Given the description of an element on the screen output the (x, y) to click on. 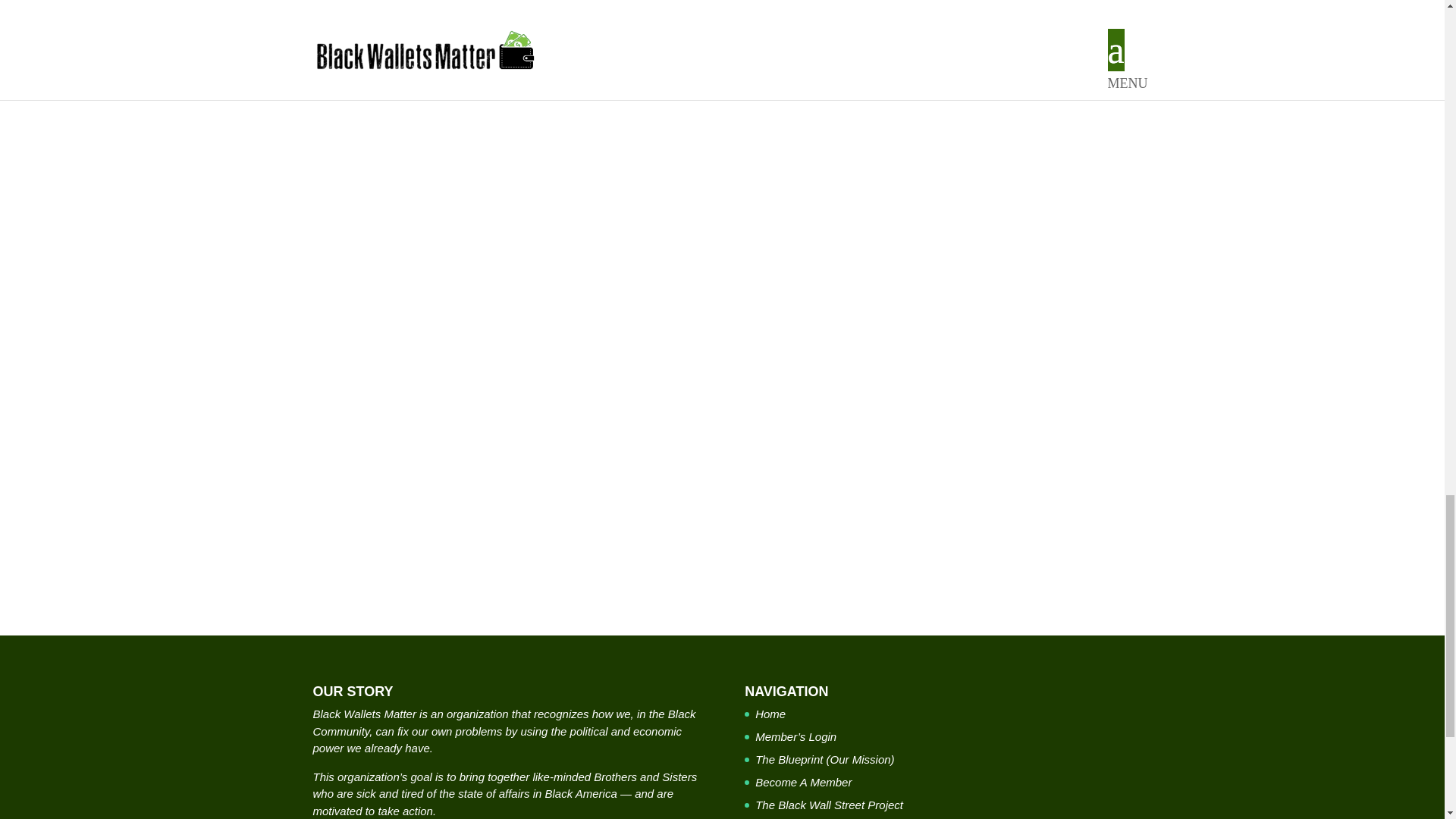
The Black Wall Street Project (828, 804)
Become A Founding Member Today! (721, 279)
Home (770, 713)
Become A Member (803, 781)
